Given the description of an element on the screen output the (x, y) to click on. 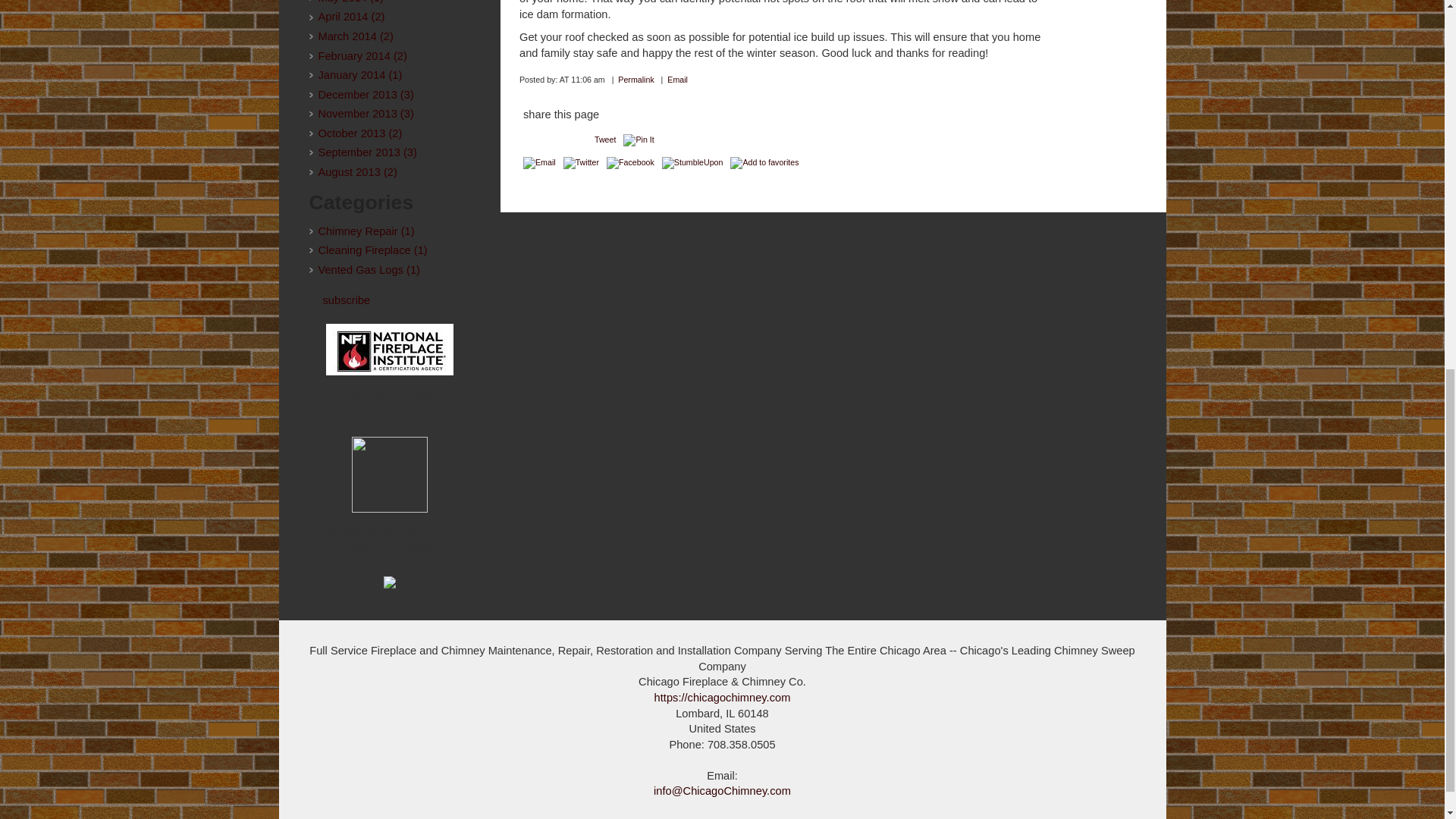
Add to favorites (763, 162)
Pin It (638, 140)
Twitter (580, 162)
Email (539, 162)
StumbleUpon (692, 162)
Facebook (630, 162)
